Given the description of an element on the screen output the (x, y) to click on. 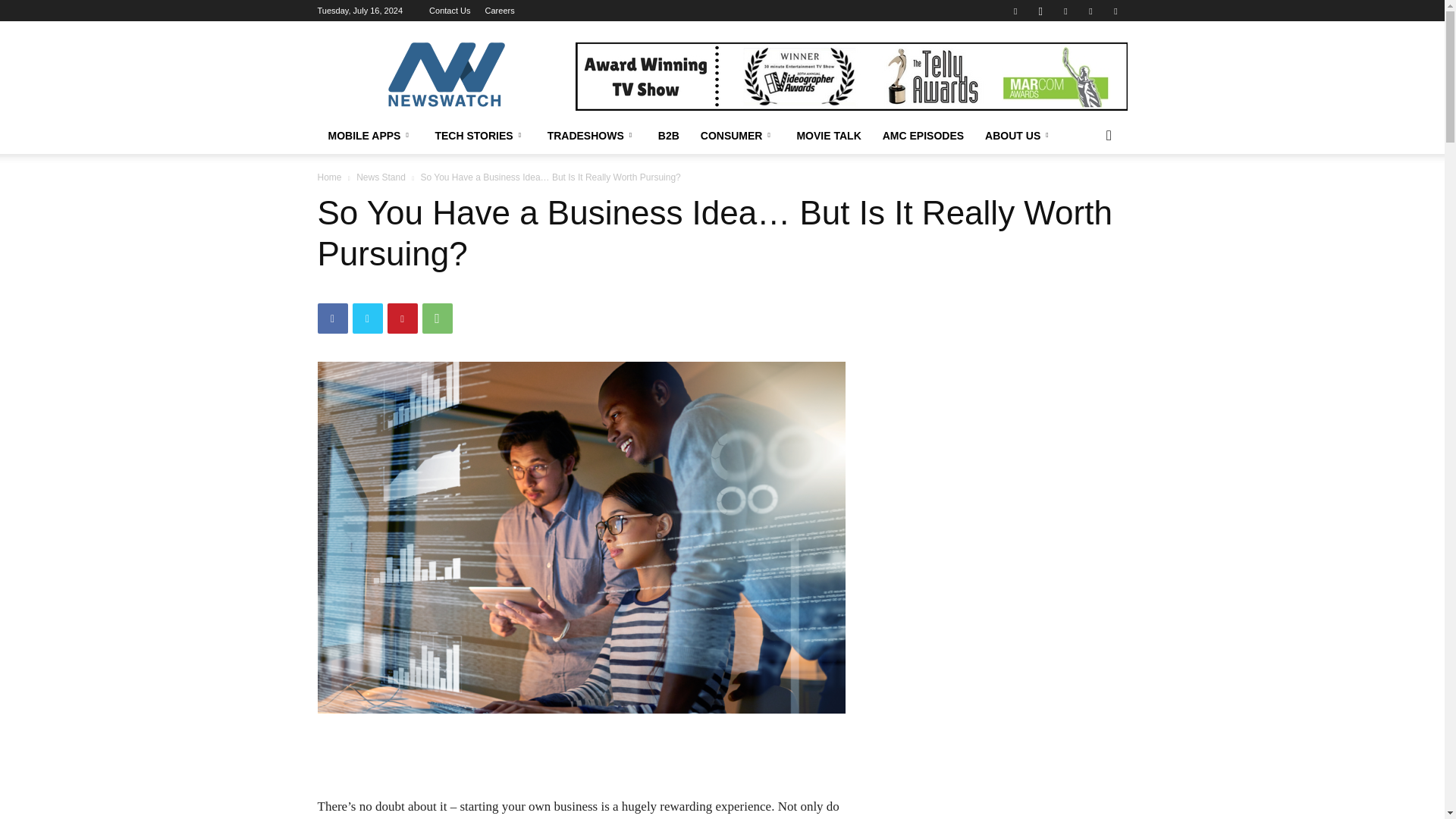
Twitter (1065, 10)
Facebook (1015, 10)
NewsWatch (445, 76)
Twitter (366, 318)
Vimeo (1090, 10)
Youtube (1114, 10)
Instagram (1040, 10)
Facebook (332, 318)
View all posts in News Stand (381, 176)
